Given the description of an element on the screen output the (x, y) to click on. 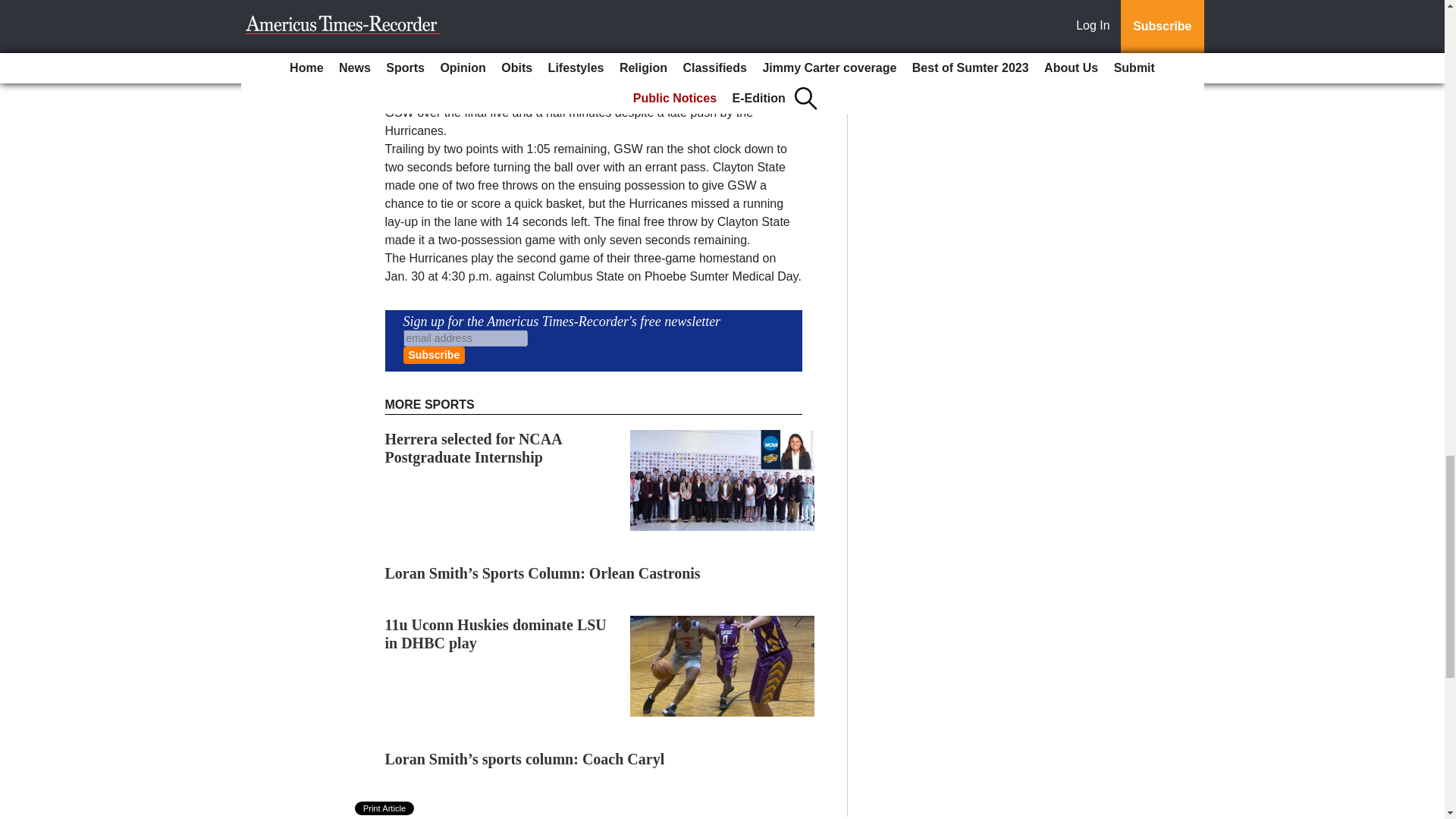
Print Article (384, 807)
11u Uconn Huskies dominate LSU in DHBC play (496, 633)
11u Uconn Huskies dominate LSU in DHBC play (496, 633)
Subscribe (434, 354)
Subscribe (434, 354)
Herrera selected for NCAA Postgraduate Internship (473, 448)
Herrera selected for NCAA Postgraduate Internship (473, 448)
